Given the description of an element on the screen output the (x, y) to click on. 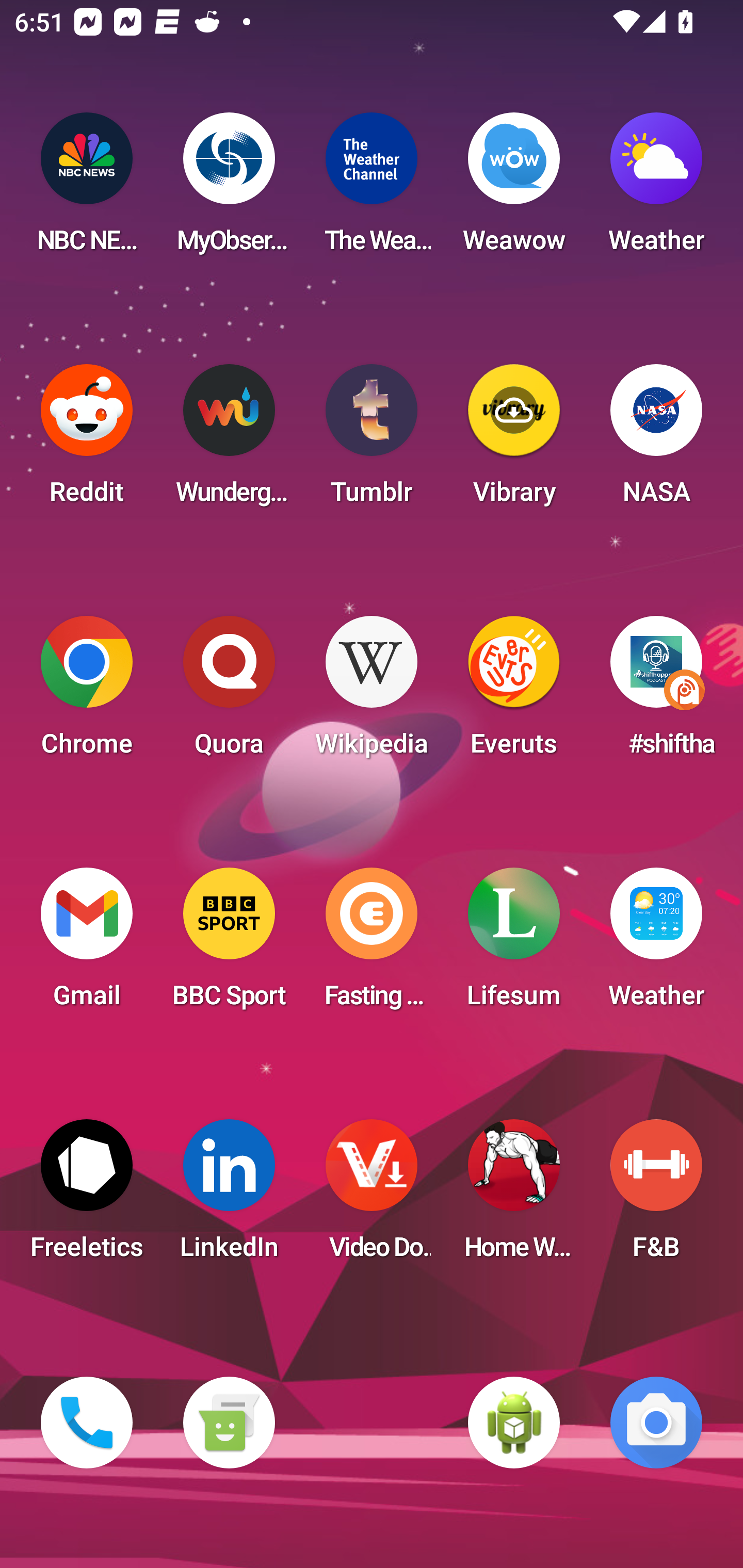
NBC NEWS (86, 188)
MyObservatory (228, 188)
The Weather Channel (371, 188)
Weawow (513, 188)
Weather (656, 188)
Reddit (86, 440)
Wunderground (228, 440)
Tumblr (371, 440)
Vibrary (513, 440)
NASA (656, 440)
Chrome (86, 692)
Quora (228, 692)
Wikipedia (371, 692)
Everuts (513, 692)
#shifthappens in the Digital Workplace Podcast (656, 692)
Gmail (86, 943)
BBC Sport (228, 943)
Fasting Coach (371, 943)
Lifesum (513, 943)
Weather (656, 943)
Freeletics (86, 1195)
LinkedIn (228, 1195)
Video Downloader & Ace Player (371, 1195)
Home Workout (513, 1195)
F&B (656, 1195)
Phone (86, 1422)
Messaging (228, 1422)
WebView Browser Tester (513, 1422)
Camera (656, 1422)
